Given the description of an element on the screen output the (x, y) to click on. 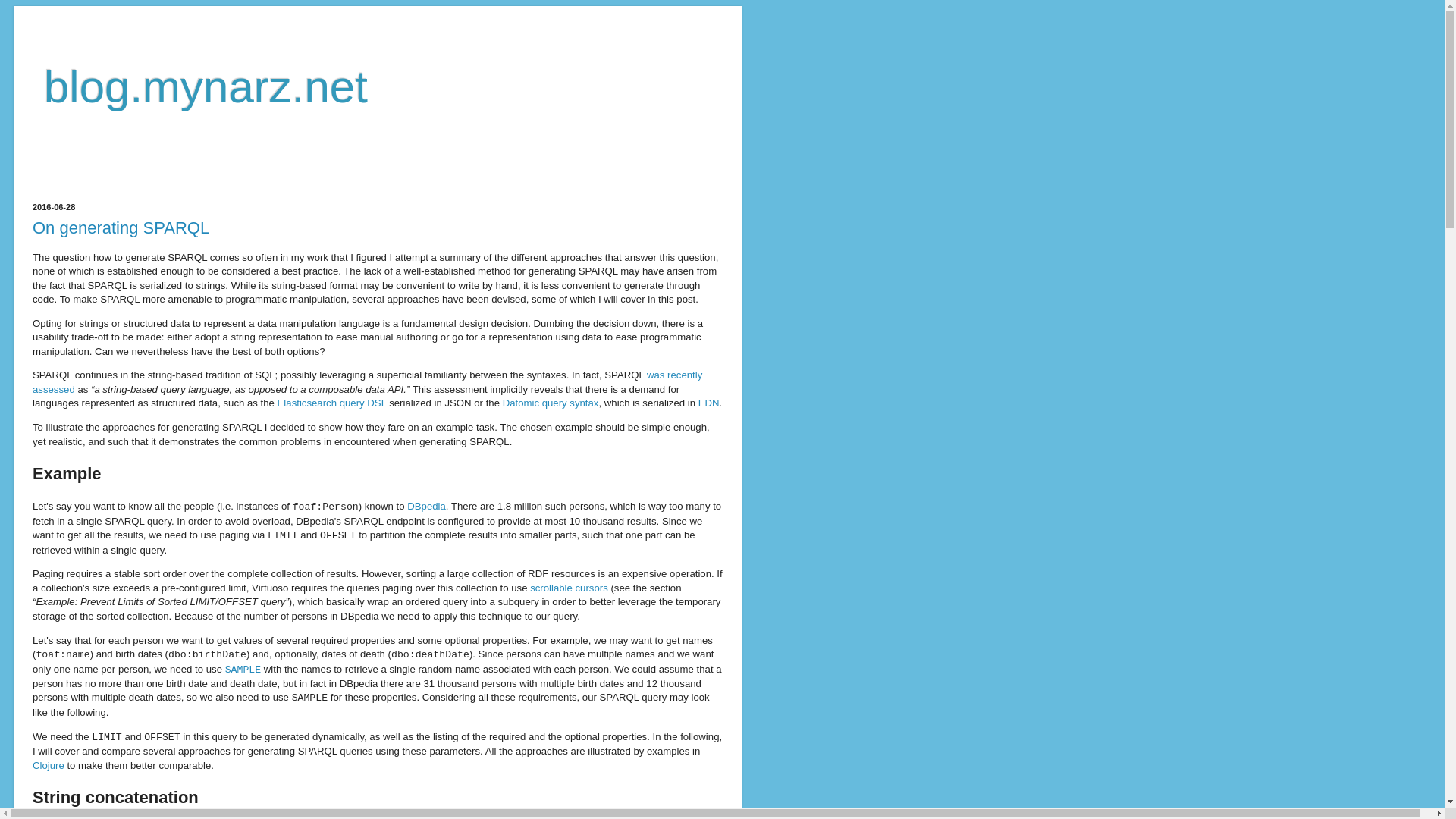
scrollable cursors (568, 587)
was recently assessed (366, 381)
SAMPLE (242, 668)
On generating SPARQL (120, 227)
DBpedia (426, 505)
Elasticsearch query DSL (332, 402)
Clojure (48, 765)
blog.mynarz.net (205, 86)
EDN (708, 402)
Datomic query syntax (550, 402)
